Given the description of an element on the screen output the (x, y) to click on. 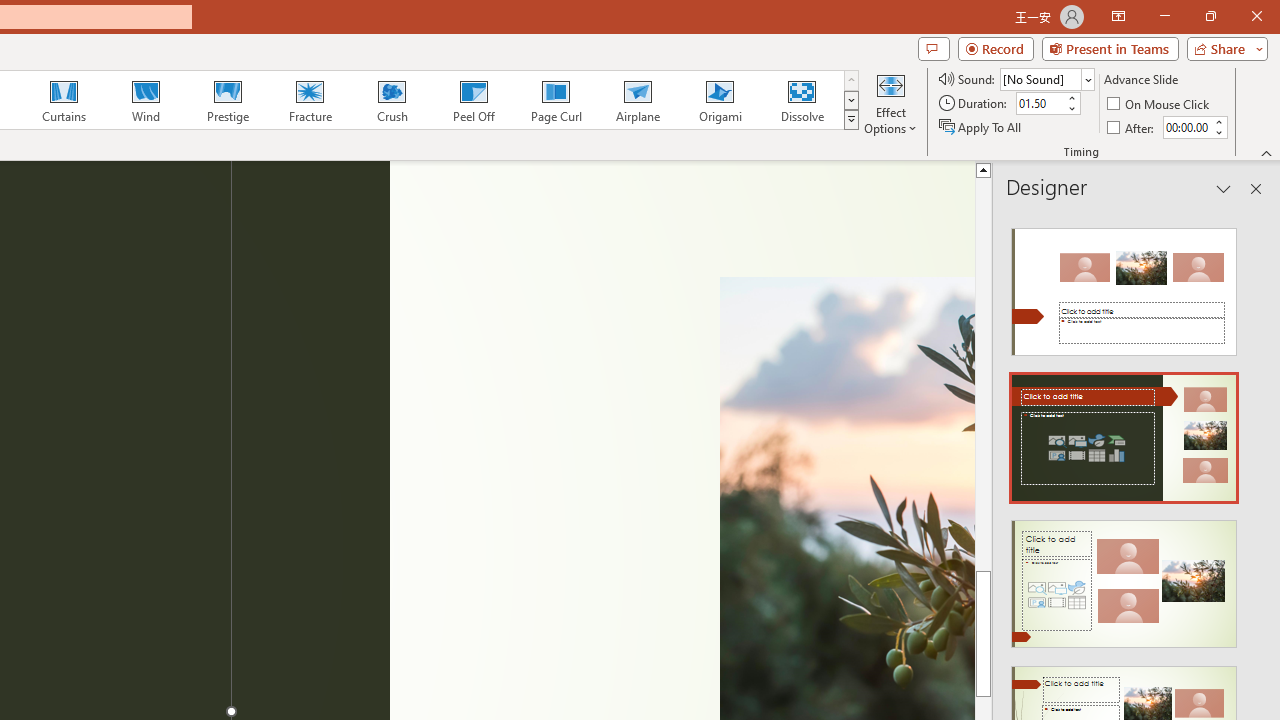
Prestige (227, 100)
Row Down (850, 100)
Design Idea (1124, 577)
Dissolve (802, 100)
On Mouse Click (1159, 103)
Apply To All (981, 126)
Origami (719, 100)
